Given the description of an element on the screen output the (x, y) to click on. 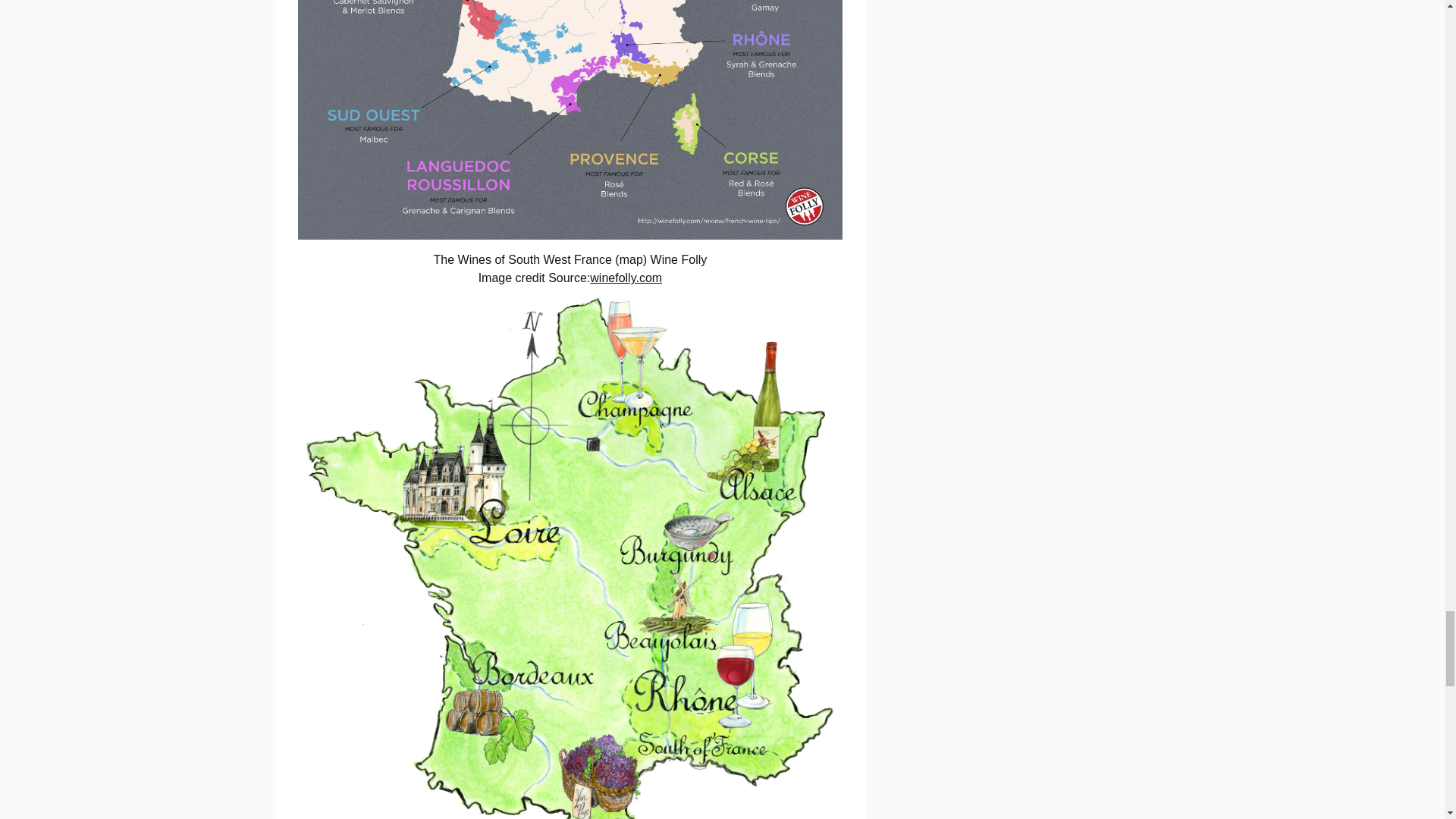
winefolly.com (625, 277)
